Given the description of an element on the screen output the (x, y) to click on. 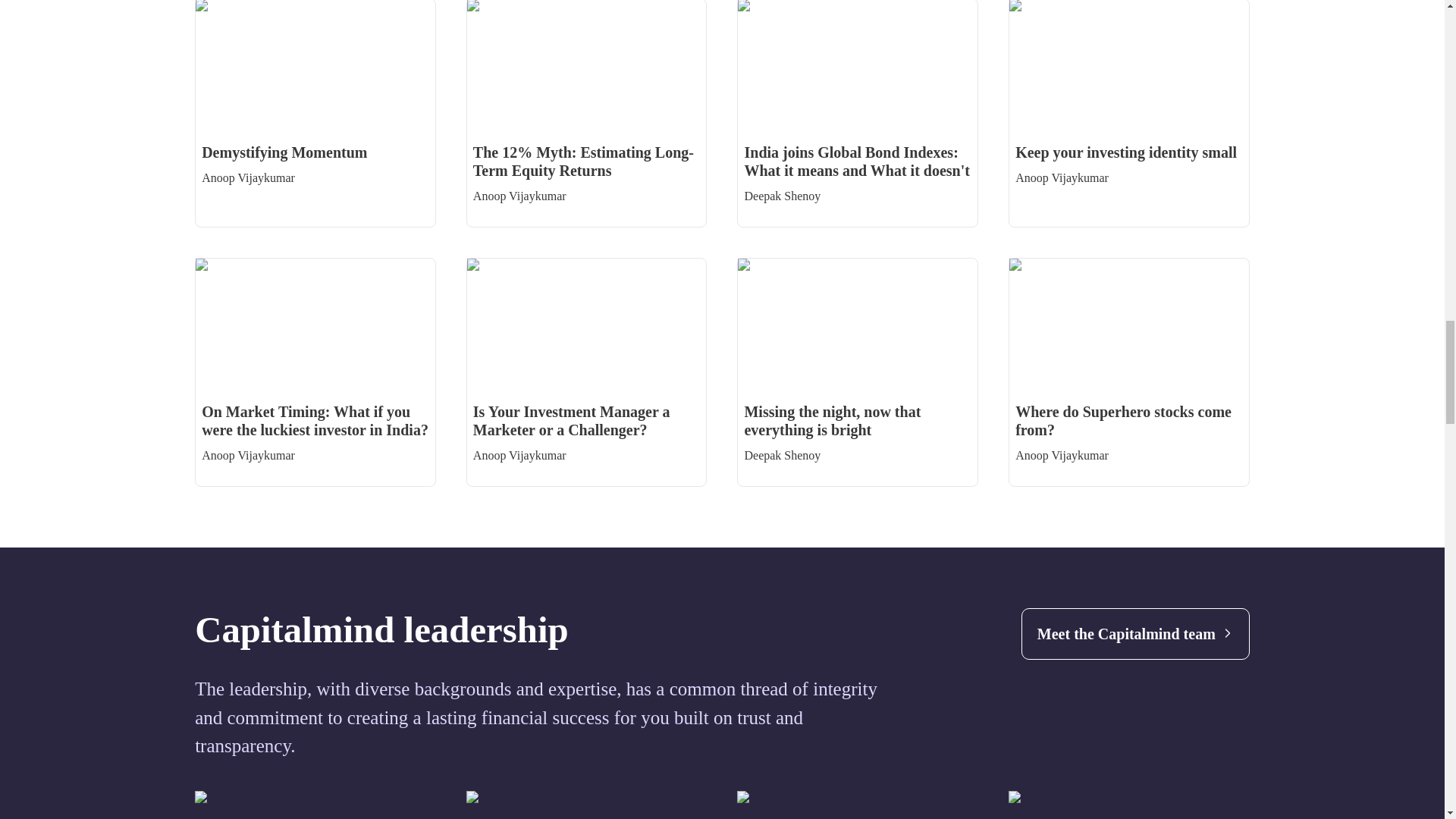
Meet the Capitalmind team (1135, 634)
